Given the description of an element on the screen output the (x, y) to click on. 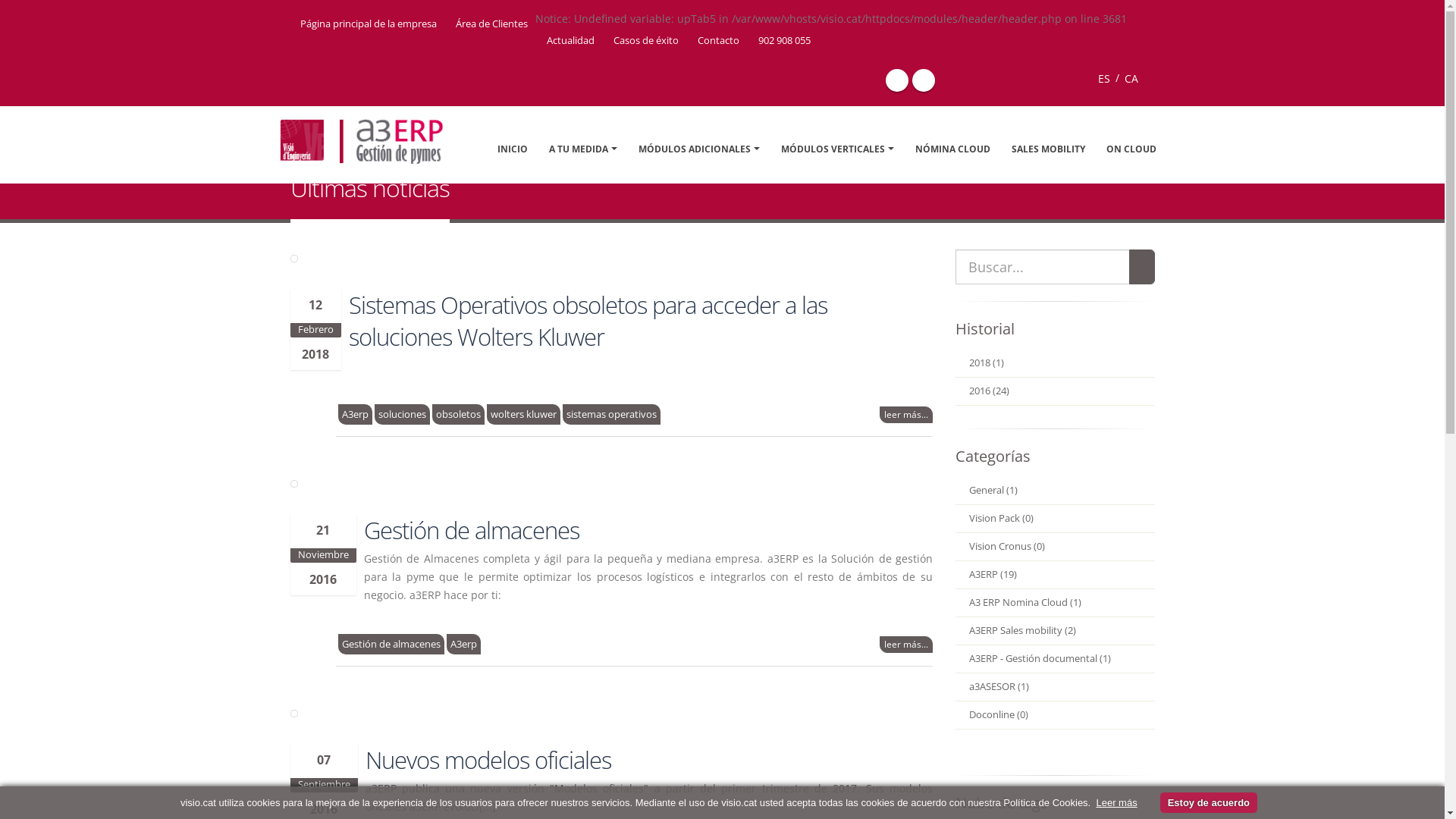
Actualidad Element type: text (569, 40)
Facebook Element type: hover (896, 80)
wolters kluwer Element type: text (523, 414)
A3ERP (19) Element type: text (1054, 575)
A3erp Element type: text (355, 414)
a3ASESOR (1) Element type: text (1054, 687)
General (1) Element type: text (1054, 490)
Doconline (0) Element type: text (1054, 715)
Twitter Element type: hover (922, 80)
INICIO Element type: text (511, 149)
2018 (1) Element type: text (1054, 363)
ES Element type: text (1104, 78)
2016 (24) Element type: text (1054, 391)
A3ERP Element type: text (403, 164)
ON CLOUD Element type: text (1131, 149)
A3ERP Sales mobility (2) Element type: text (1054, 631)
Contacto Element type: text (716, 40)
Vision Pack (0) Element type: text (1054, 519)
obsoletos Element type: text (458, 414)
soluciones Element type: text (401, 414)
A3erp Element type: text (462, 643)
A TU MEDIDA Element type: text (582, 149)
sistemas operativos Element type: text (611, 414)
A3 ERP Nomina Cloud (1) Element type: text (1054, 603)
CA Element type: text (1130, 78)
SALES MOBILITY Element type: text (1047, 149)
Nuevos modelos oficiales Element type: text (488, 759)
INICIO Element type: text (304, 164)
NOTICIAS Element type: text (353, 164)
Vision Cronus (0) Element type: text (1054, 547)
